Given the description of an element on the screen output the (x, y) to click on. 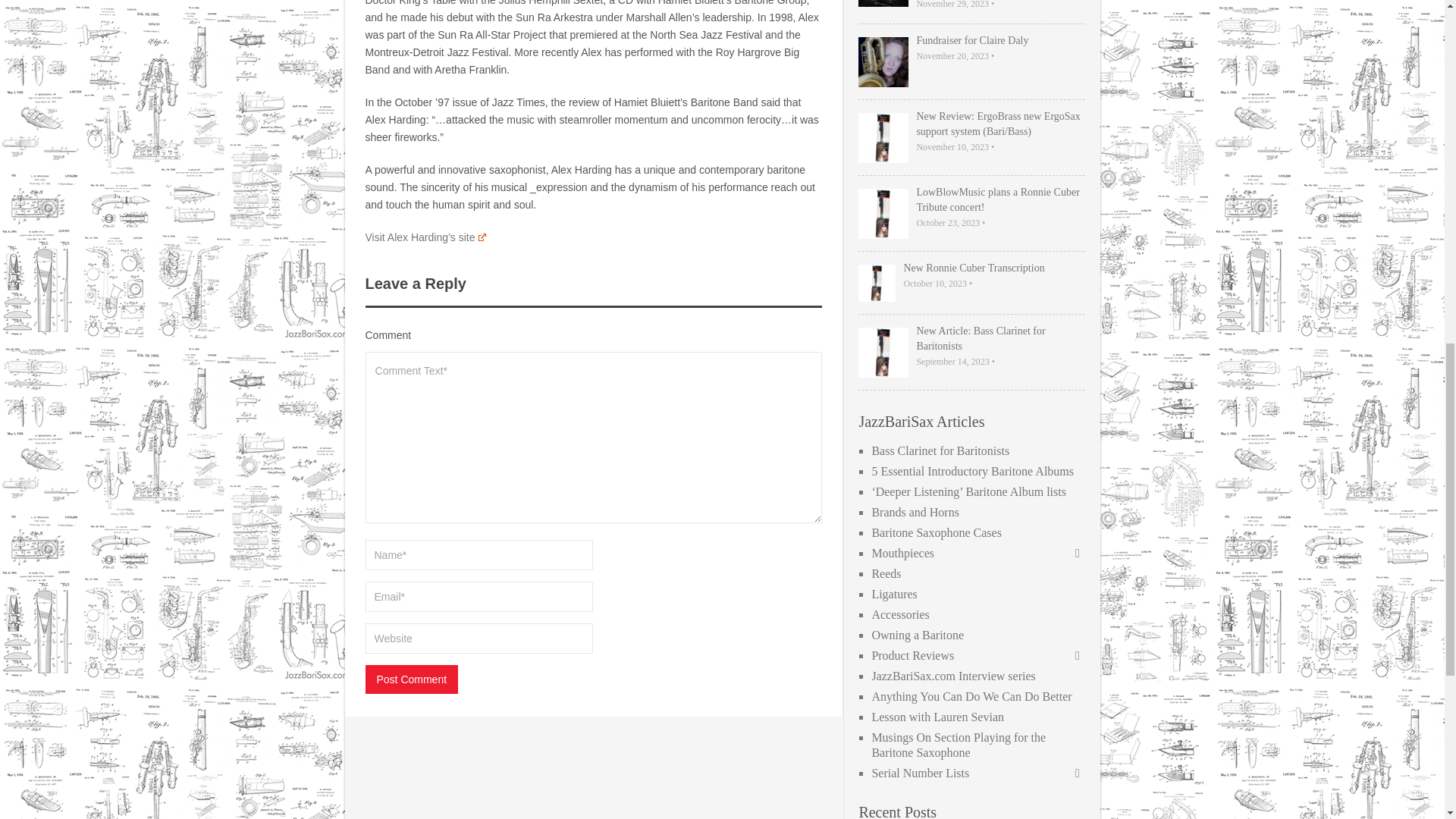
Post Comment (411, 679)
